Given the description of an element on the screen output the (x, y) to click on. 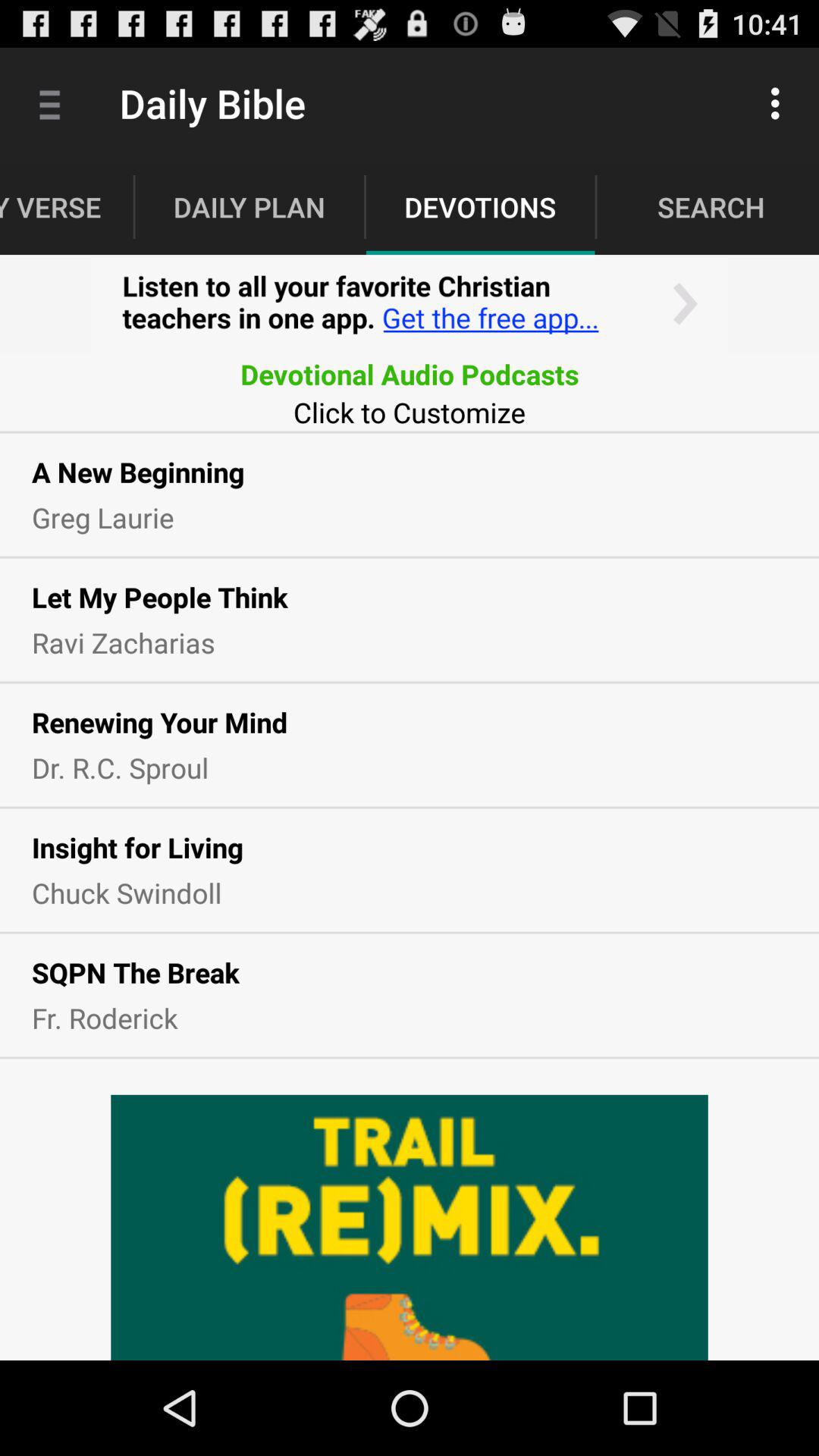
click to next (409, 304)
